Given the description of an element on the screen output the (x, y) to click on. 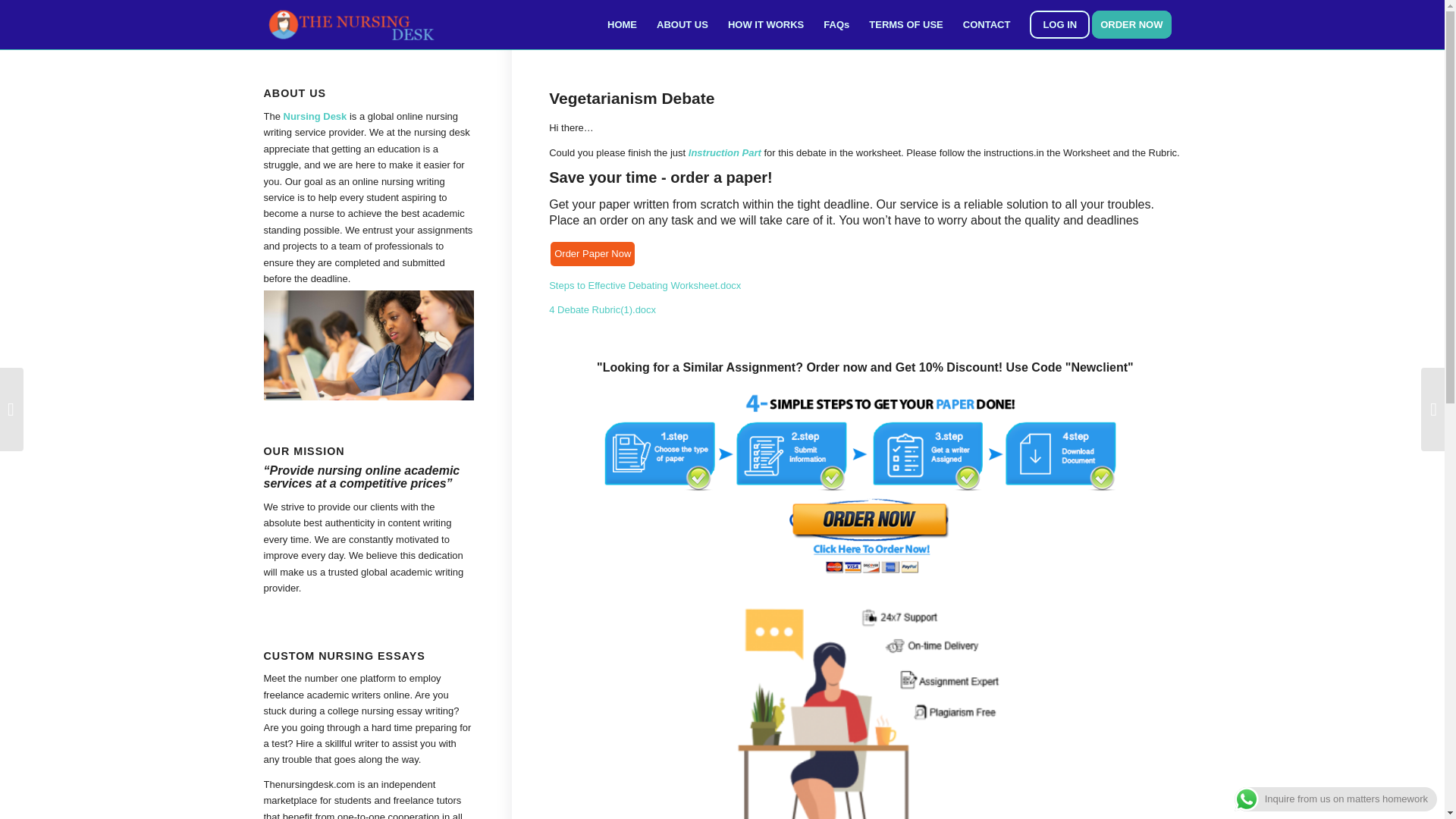
TERMS OF USE (906, 24)
LOG IN (1059, 24)
FAQs (836, 24)
Thenursingdesk.com (309, 784)
HOME (621, 24)
ORDER NOW (1136, 24)
HOW IT WORKS (765, 24)
Permanent Link: Vegetarianism Debate (631, 98)
ABOUT US (681, 24)
CONTACT (986, 24)
Vegetarianism Debate (631, 98)
Steps to Effective Debating Worksheet.docx (644, 285)
Order Paper Now (592, 253)
